Given the description of an element on the screen output the (x, y) to click on. 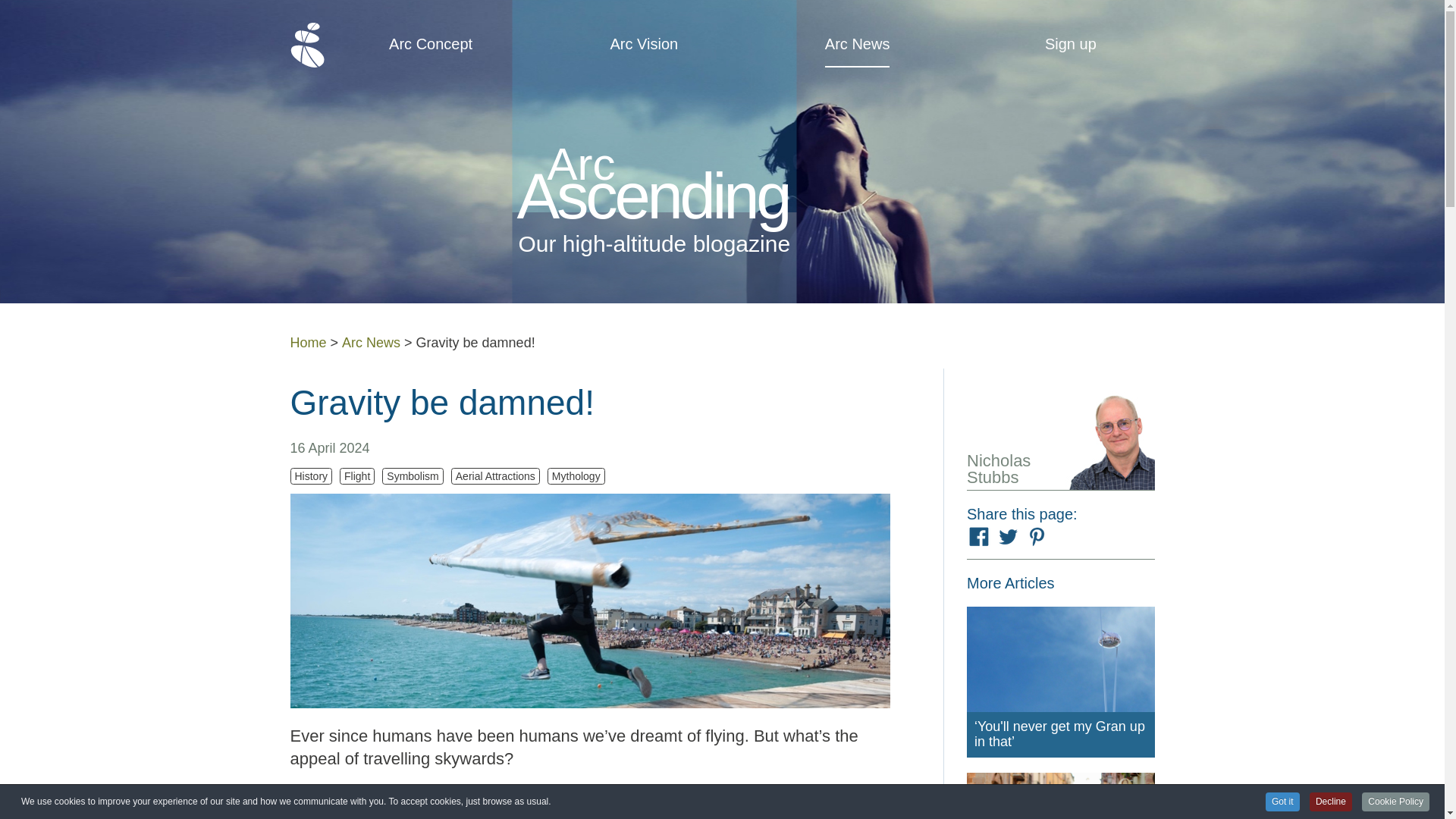
Mythology (576, 475)
Arc News (371, 342)
Share on Twitter (1007, 536)
Arc Concept (429, 44)
Flight (356, 475)
Arc News (857, 44)
Aerial Attractions (495, 475)
Symbolism (411, 475)
Sign up (1070, 44)
Share on Facebook (978, 536)
Home (307, 342)
Arc Vision (644, 44)
History (310, 475)
